Given the description of an element on the screen output the (x, y) to click on. 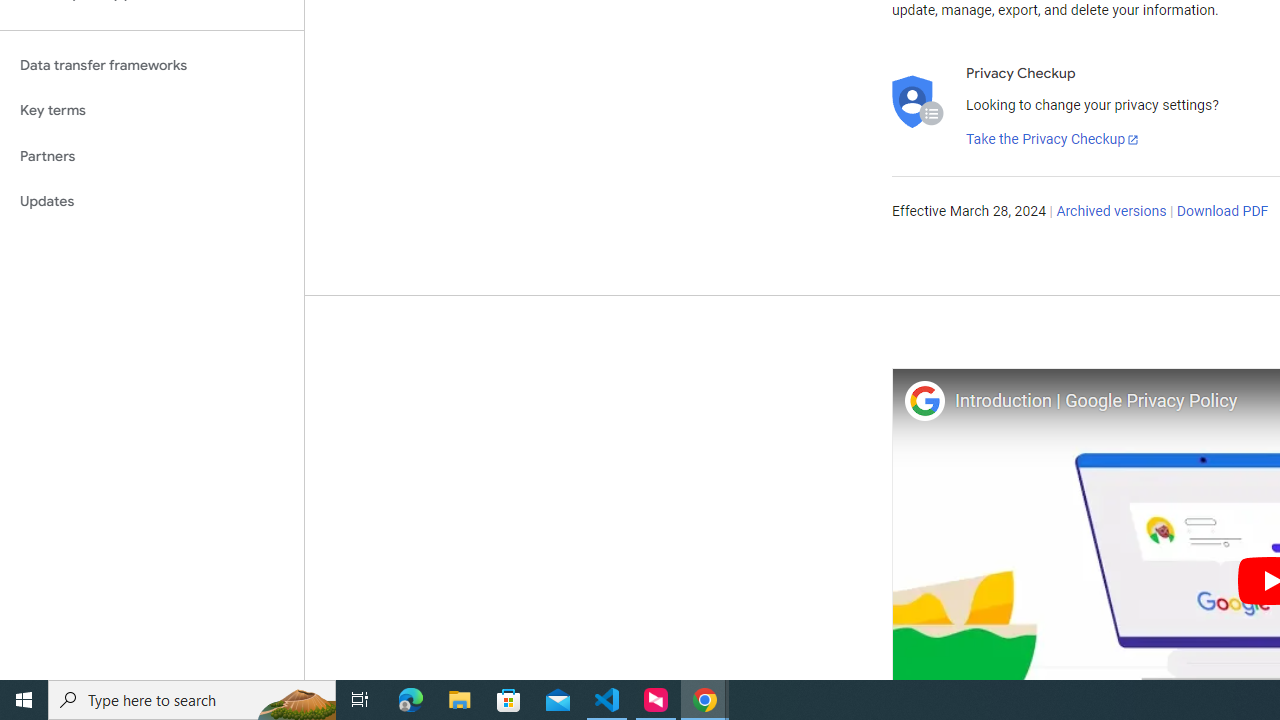
Take the Privacy Checkup (1053, 140)
Photo image of Google (924, 400)
